Given the description of an element on the screen output the (x, y) to click on. 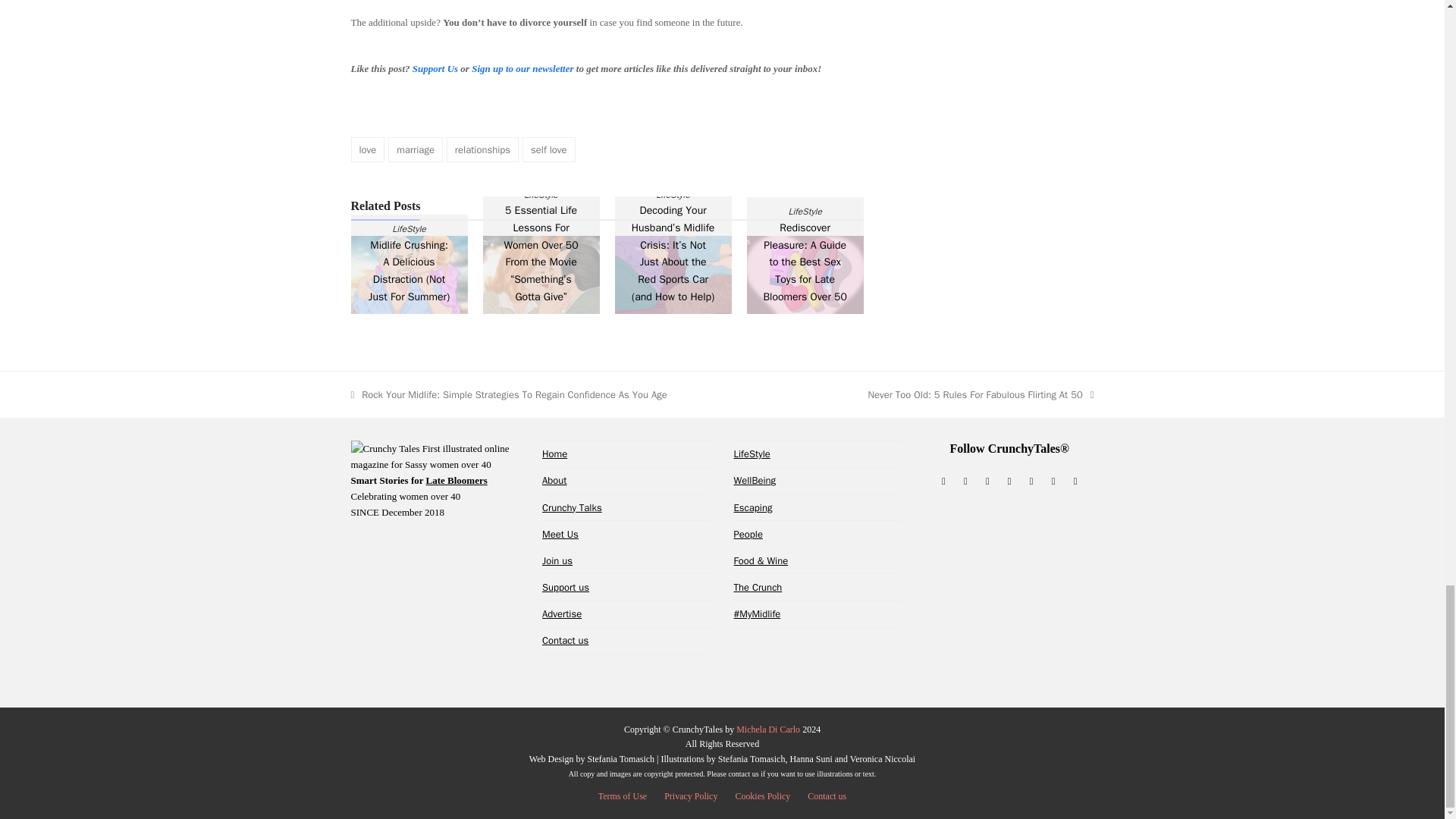
Sign up to our newsletter (522, 68)
Meet the CrunchyTales Team (559, 533)
Support Us (435, 68)
A digital illustrated magazine for women over 40 (554, 453)
